Given the description of an element on the screen output the (x, y) to click on. 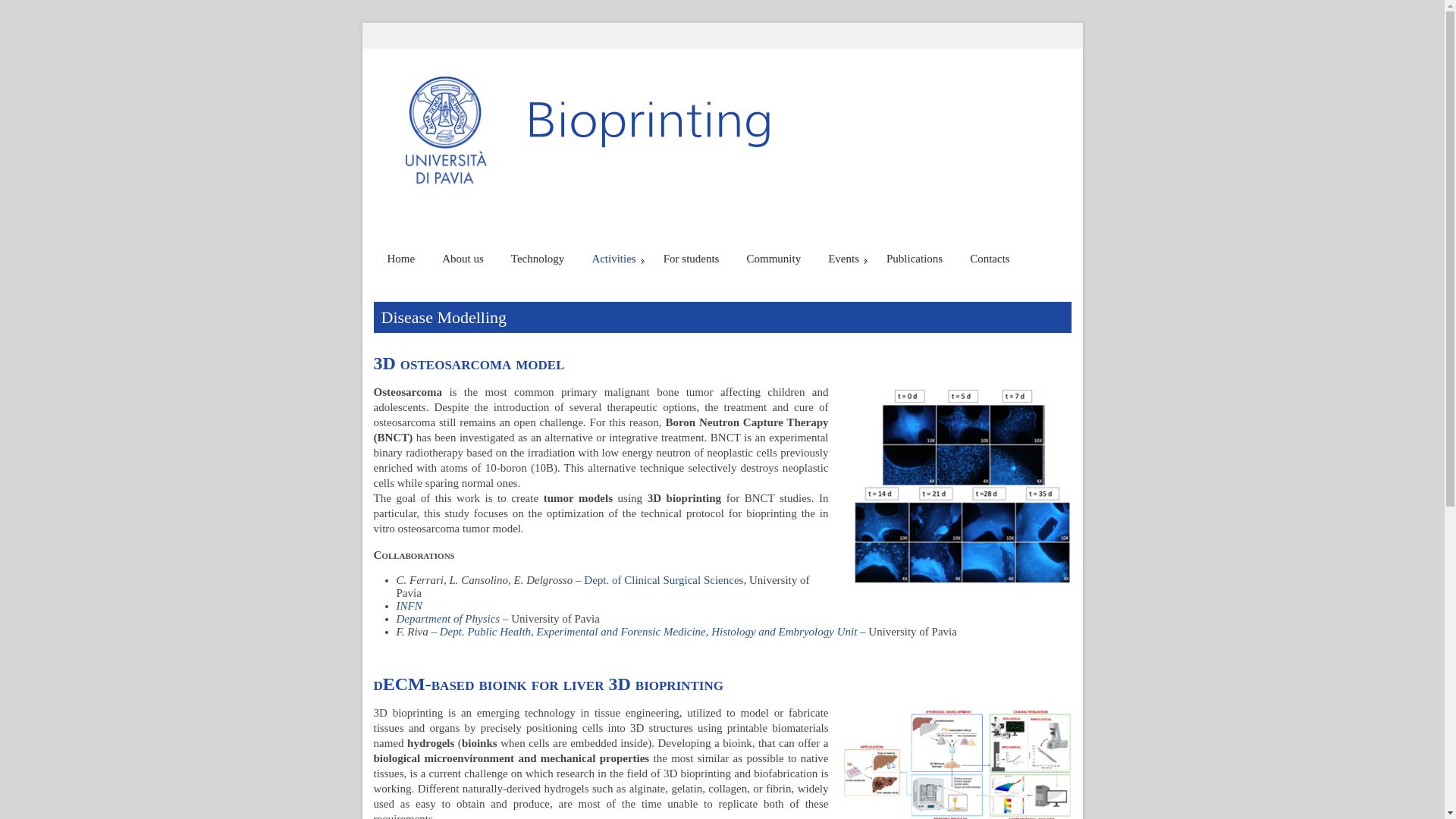
Home (400, 258)
Technology (537, 258)
Activities (613, 258)
Publications (914, 258)
For students (691, 258)
INFN (409, 605)
Contacts (989, 258)
Dept. of Clinical Surgical Sciences (662, 580)
About us (462, 258)
Community (772, 258)
Department of Physics (447, 618)
Events (843, 258)
